Given the description of an element on the screen output the (x, y) to click on. 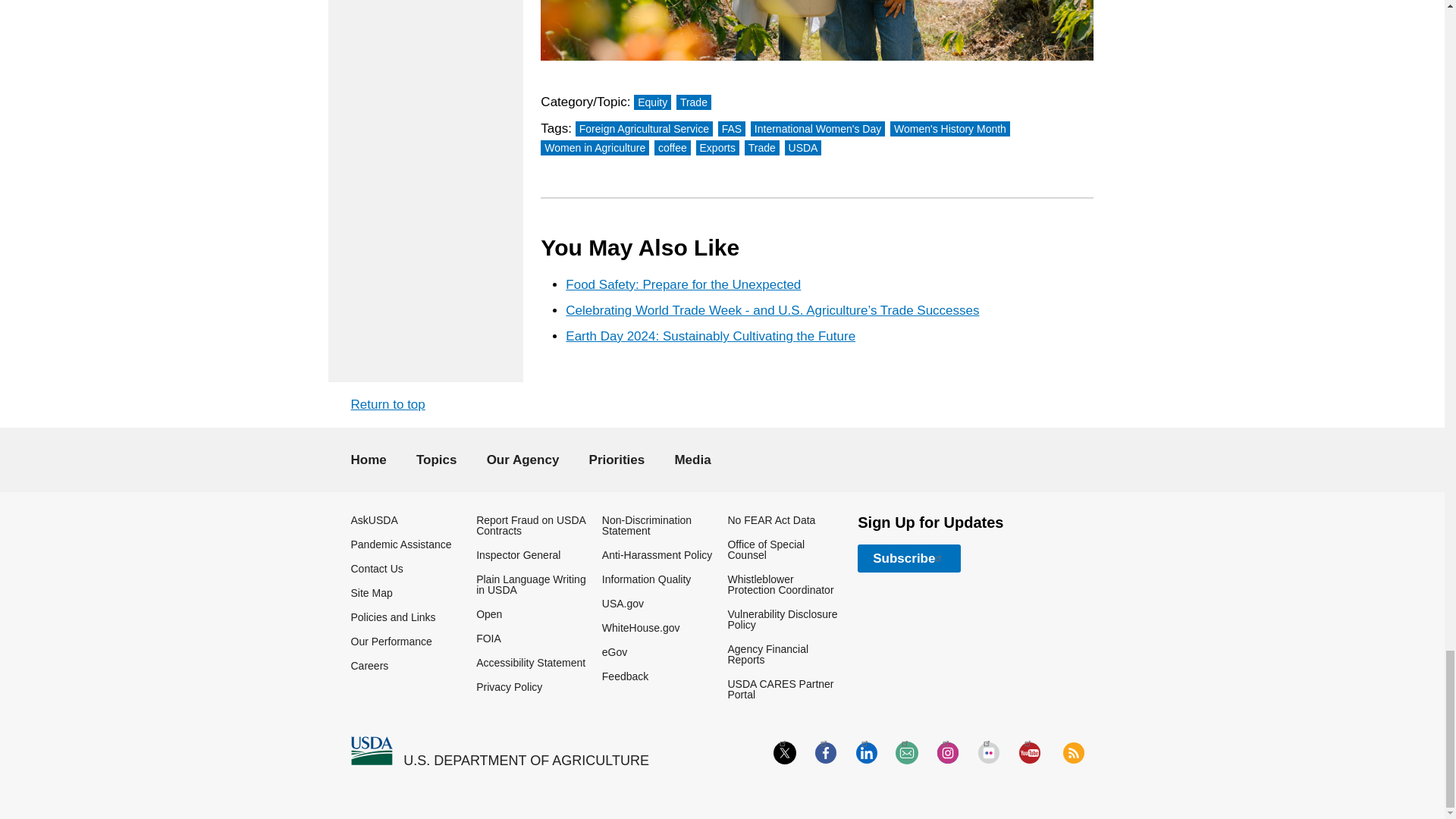
Home (526, 760)
Home (370, 751)
